Given the description of an element on the screen output the (x, y) to click on. 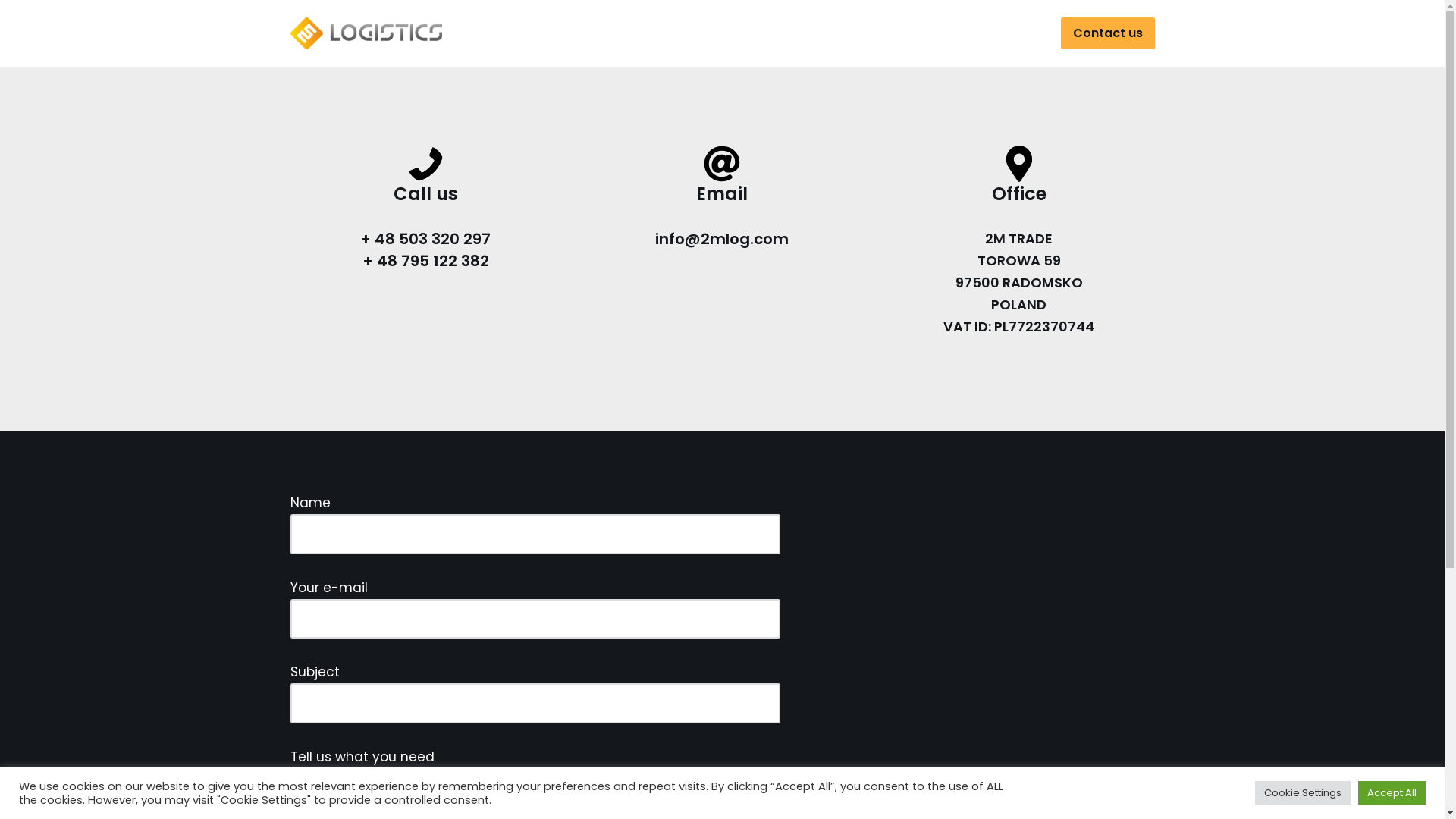
Contact us Element type: text (1107, 33)
Cookie Settings Element type: text (1302, 792)
Accept All Element type: text (1391, 792)
Skip to content Element type: text (11, 31)
2M Logistics Element type: hover (368, 33)
